Given the description of an element on the screen output the (x, y) to click on. 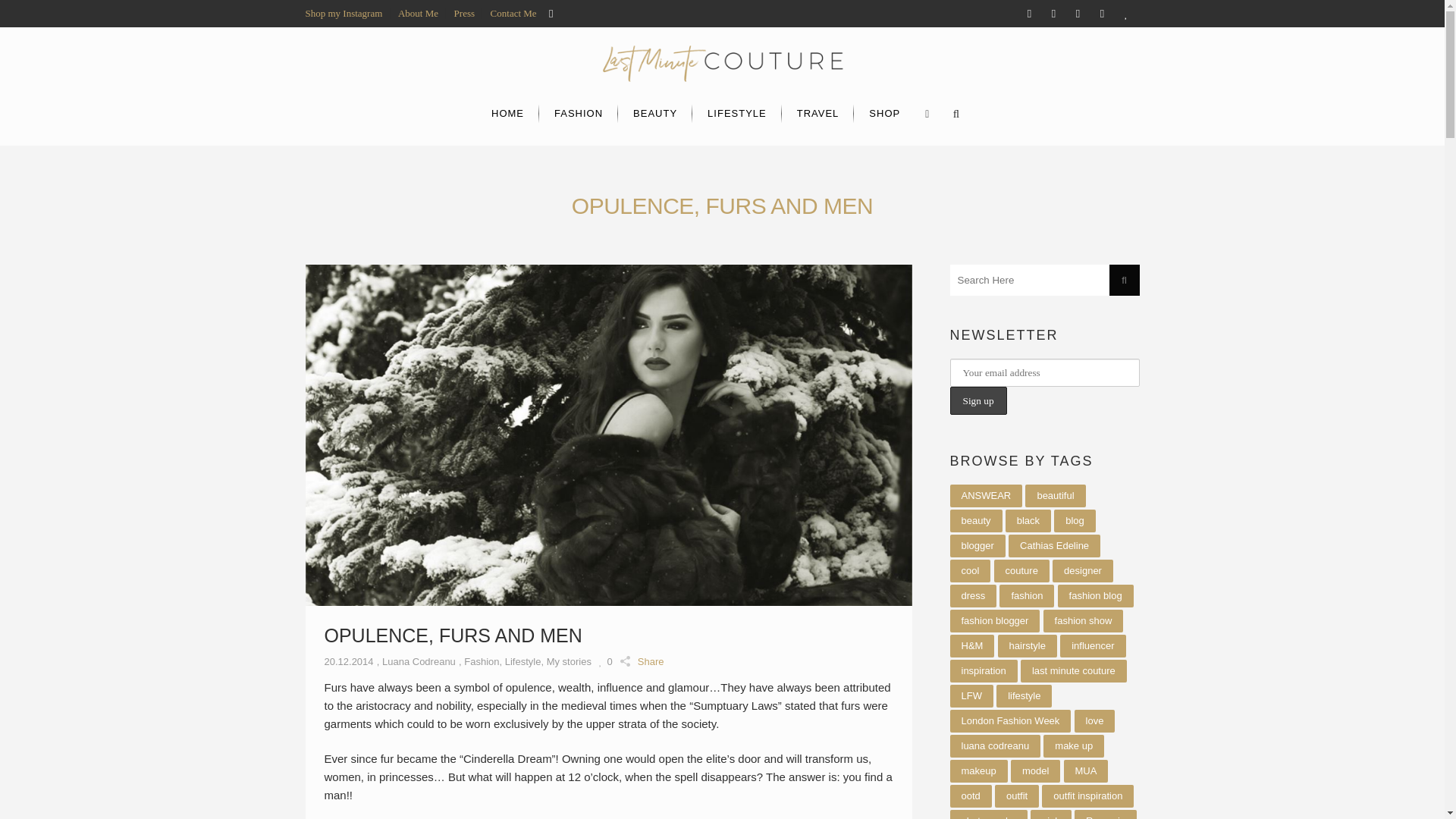
About Me (417, 12)
TRAVEL (817, 113)
BEAUTY (655, 113)
My stories (569, 661)
Shop my Instagram (342, 12)
Fashion (481, 661)
FASHION (577, 113)
Sign up (977, 400)
Press (464, 12)
SHOP (884, 113)
Contact Me (513, 12)
Luana Codreanu (418, 661)
Share (641, 659)
0 (605, 661)
HOME (507, 113)
